Given the description of an element on the screen output the (x, y) to click on. 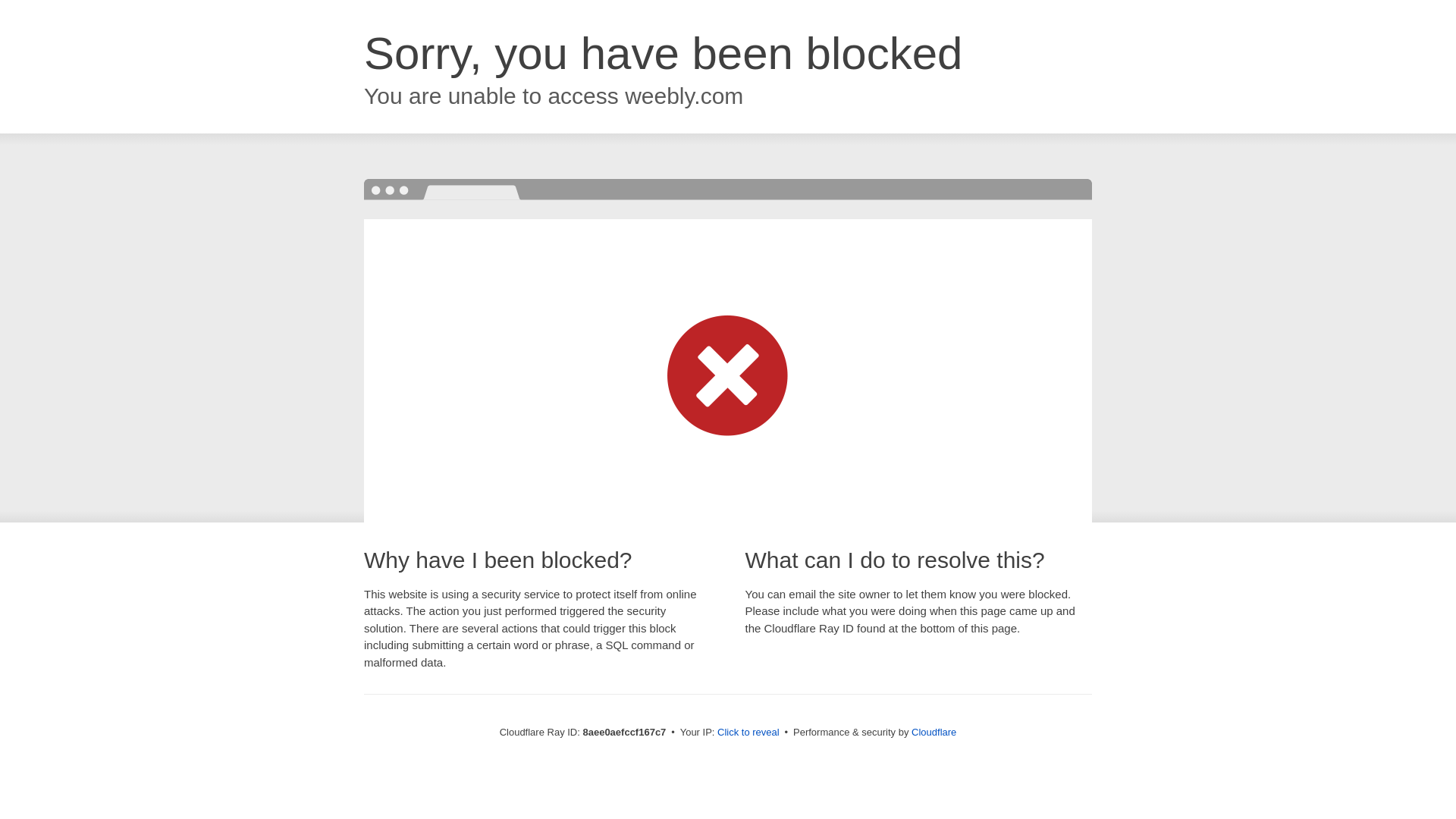
Cloudflare (933, 731)
Click to reveal (747, 732)
